Given the description of an element on the screen output the (x, y) to click on. 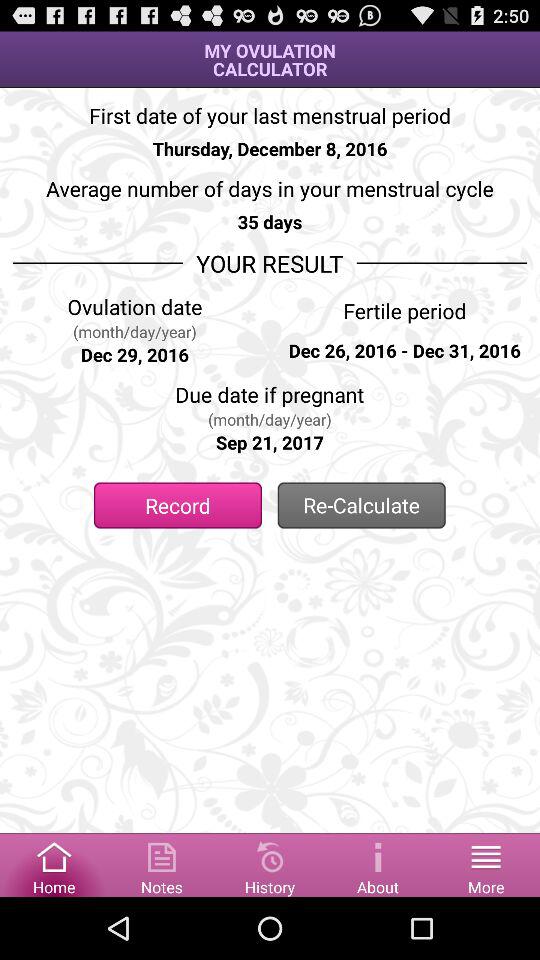
click on history option (270, 864)
